Given the description of an element on the screen output the (x, y) to click on. 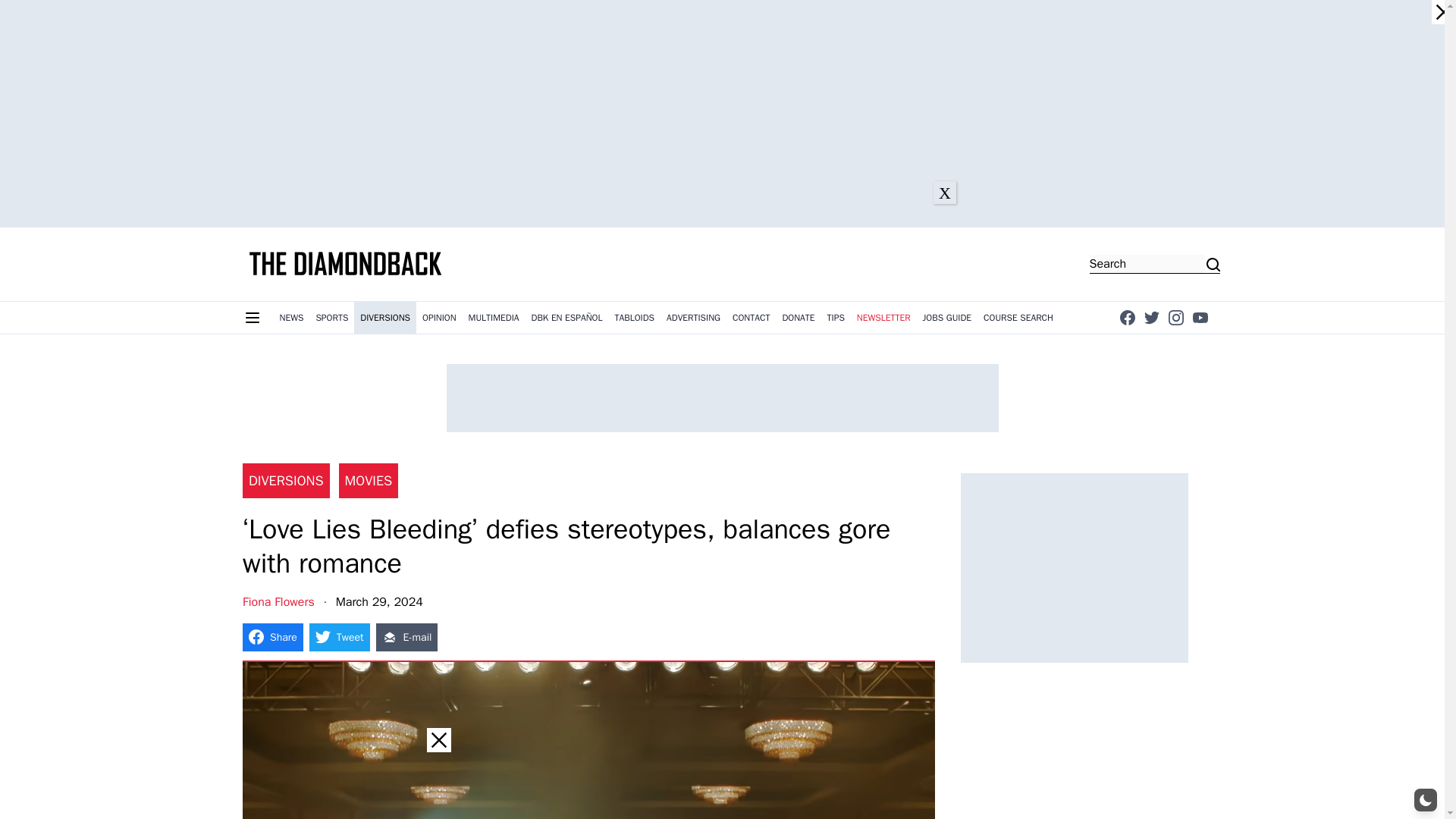
Diversions (384, 317)
Tips (835, 317)
MULTIMEDIA (494, 317)
Sports (330, 317)
Contact (751, 317)
TIPS (835, 317)
News (290, 317)
DONATE (798, 317)
SPORTS (330, 317)
